Given the description of an element on the screen output the (x, y) to click on. 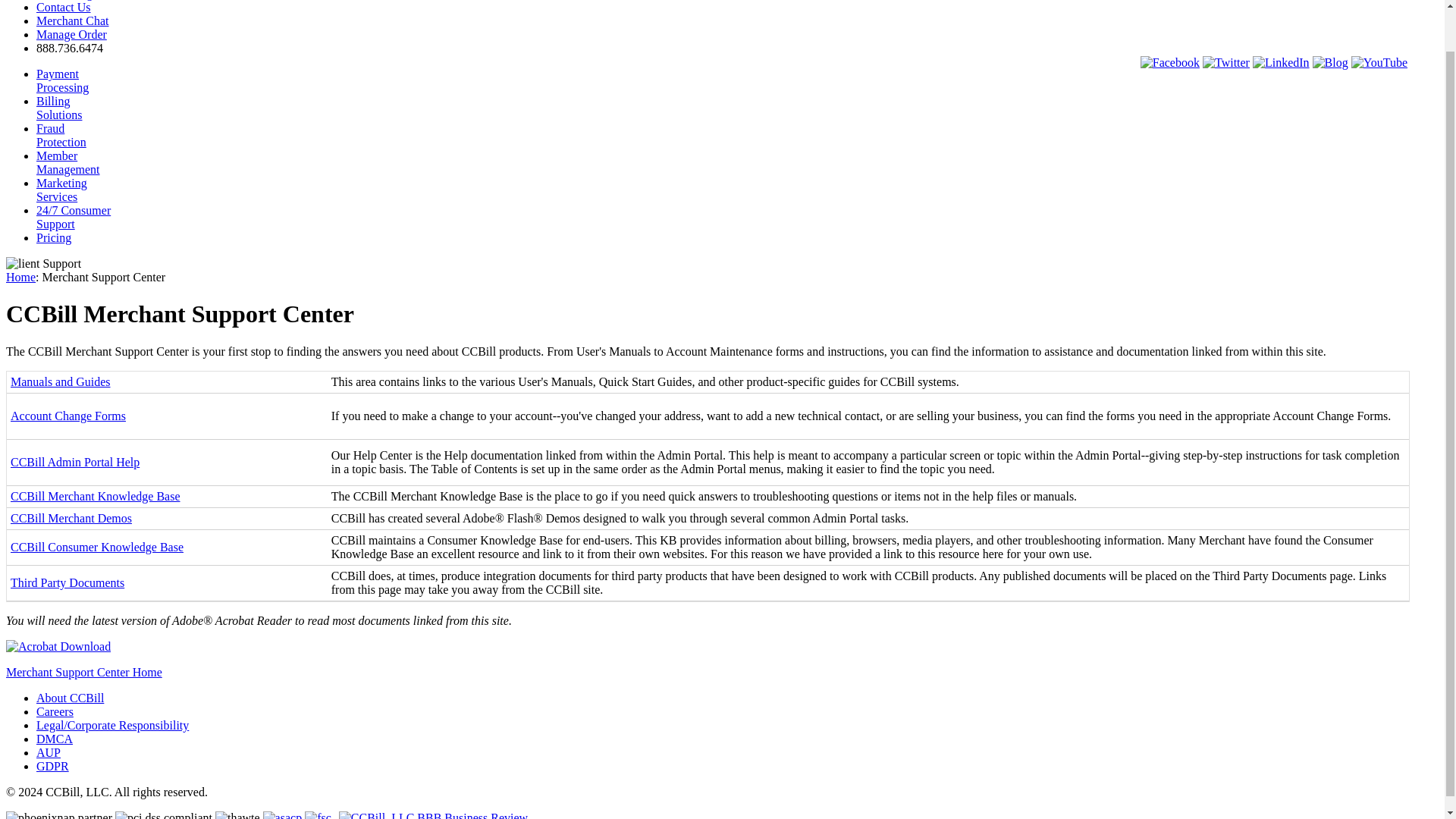
AUP (48, 752)
Third Party Documents (66, 582)
CCBill Admin Portal Help (74, 461)
Manuals and Guides (60, 381)
About CCBill (69, 697)
CCBill Merchant Demos (71, 517)
CCBill Consumer Knowledge Base (96, 546)
DMCA (54, 738)
Home (62, 80)
CCBill Merchant Knowledge Base (58, 108)
Account Change Forms (19, 277)
Manage Order (95, 495)
